Given the description of an element on the screen output the (x, y) to click on. 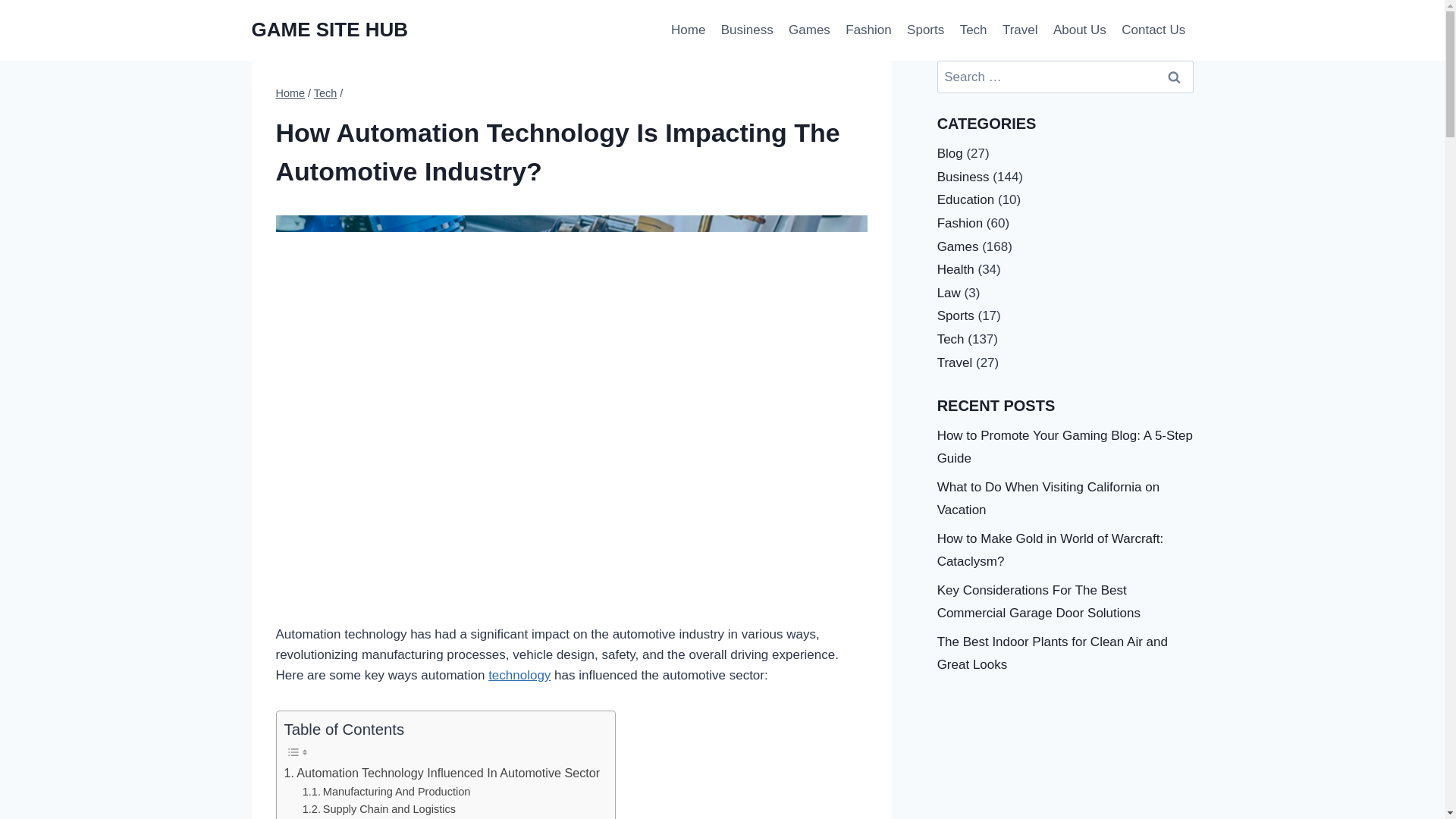
Manufacturing And Production (386, 791)
Supply Chain and Logistics (378, 809)
Fashion (868, 30)
Manufacturing And Production (386, 791)
Supply Chain and Logistics (378, 809)
Travel (1019, 30)
Contact Us (1152, 30)
technology (518, 675)
Search (1174, 76)
Tech (973, 30)
Automation Technology Influenced In Automotive Sector (441, 772)
Search (1174, 76)
Tech (325, 92)
